Given the description of an element on the screen output the (x, y) to click on. 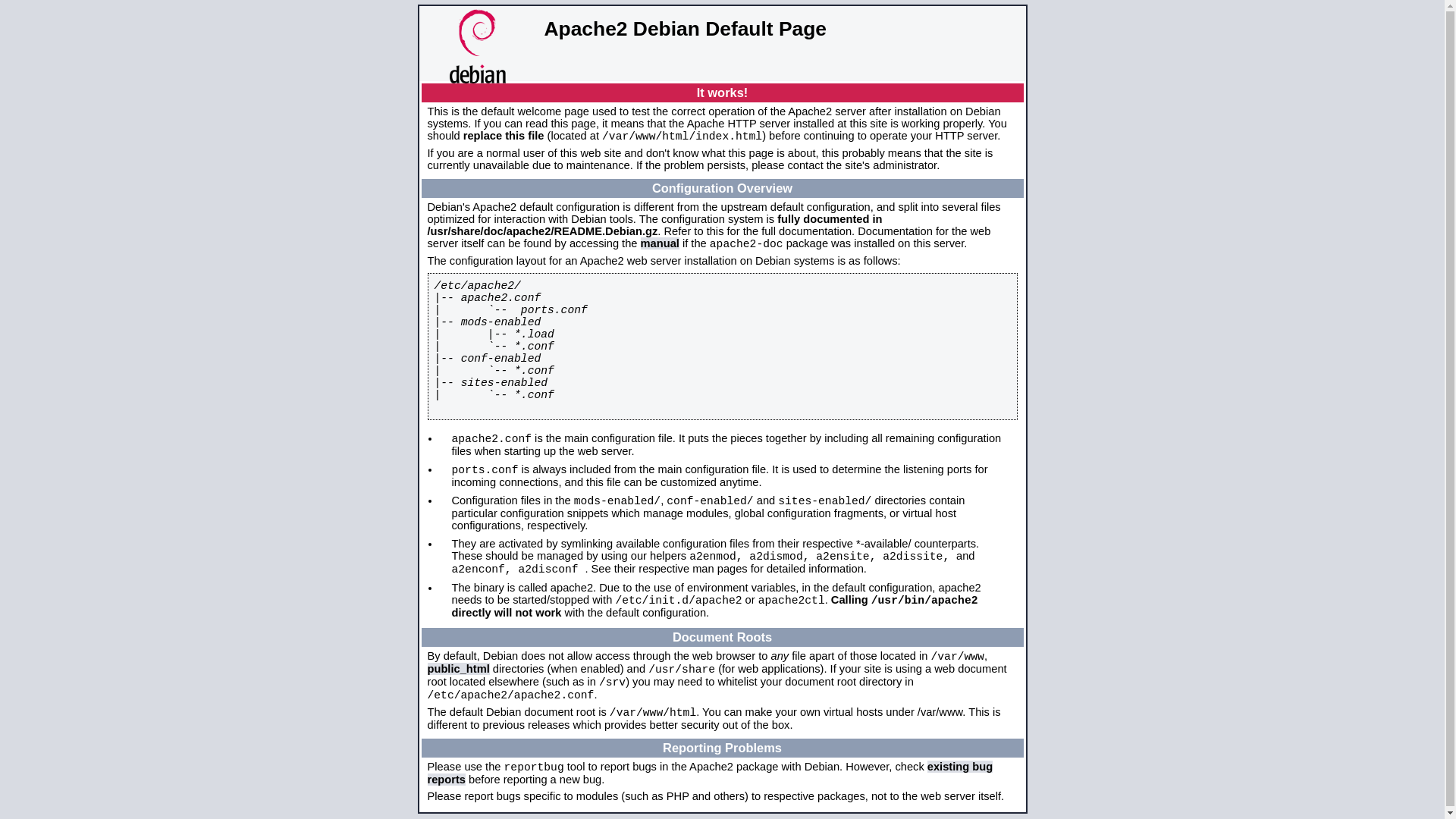
manual Element type: text (659, 243)
public_html Element type: text (458, 668)
existing bug reports Element type: text (710, 772)
